Given the description of an element on the screen output the (x, y) to click on. 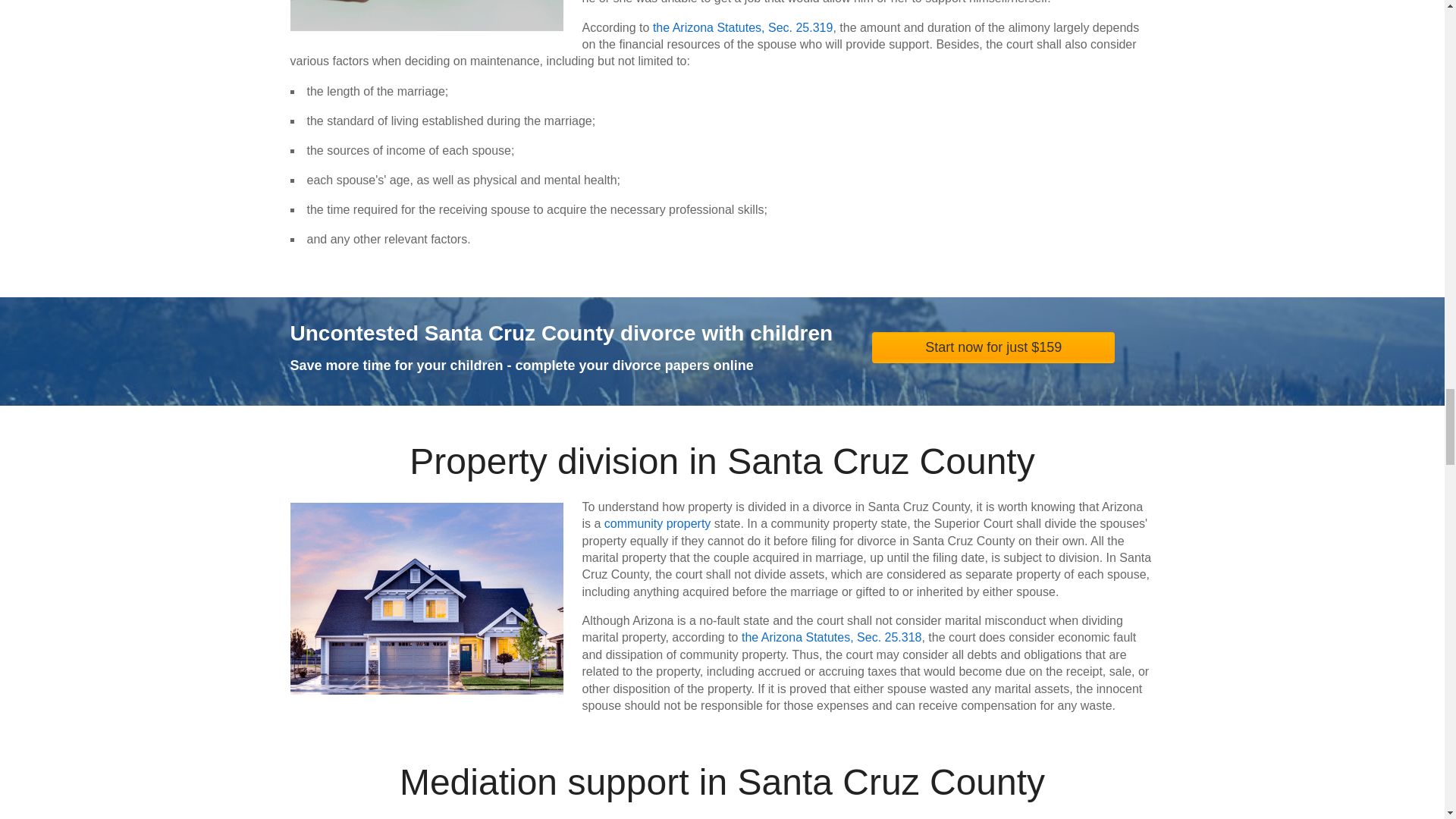
the Arizona Statutes, Sec. 25.319 (742, 27)
the Arizona Statutes, Sec. 25.318 (831, 636)
community property (657, 522)
